Given the description of an element on the screen output the (x, y) to click on. 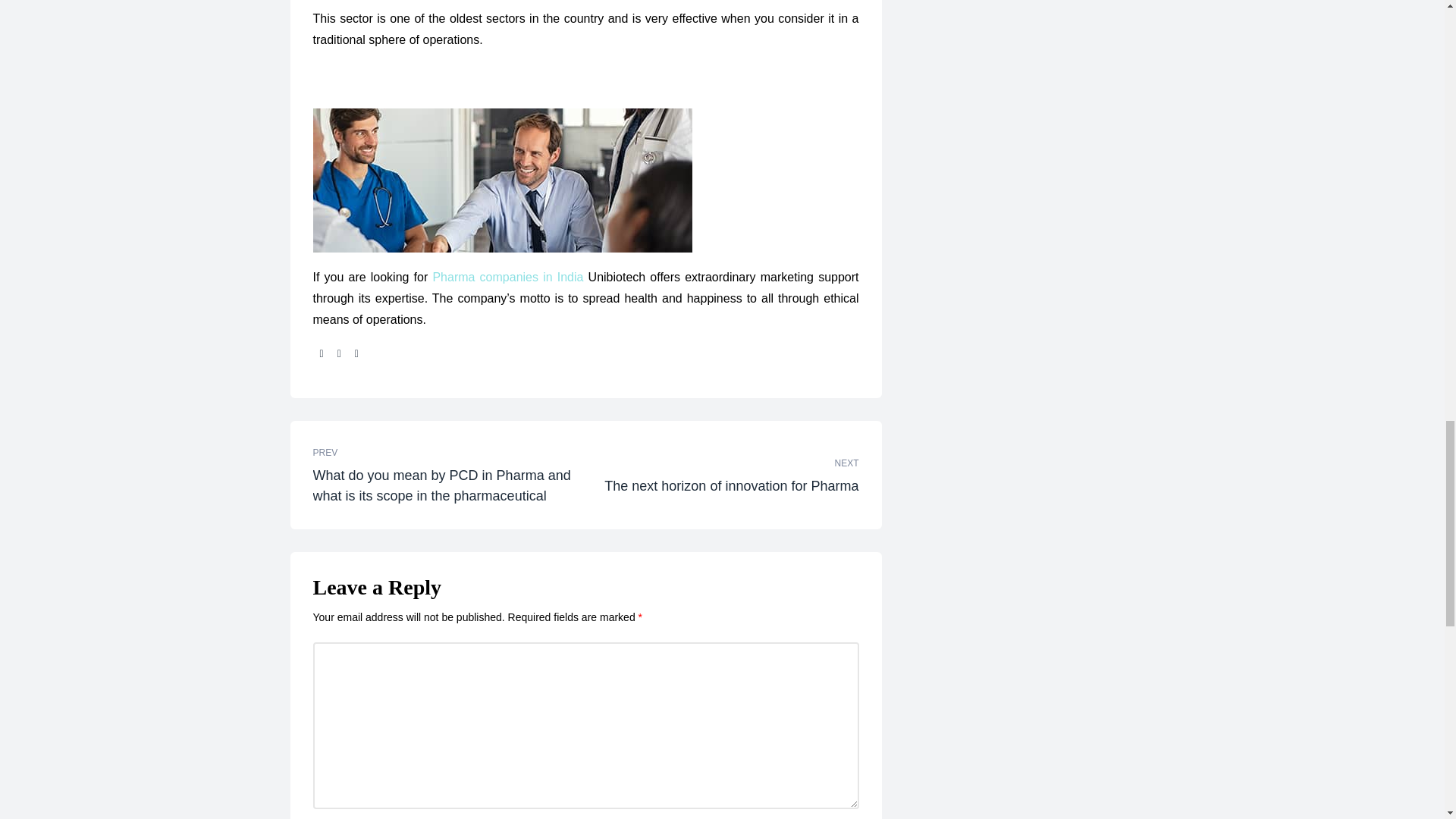
Pharma companies in India (507, 277)
